Given the description of an element on the screen output the (x, y) to click on. 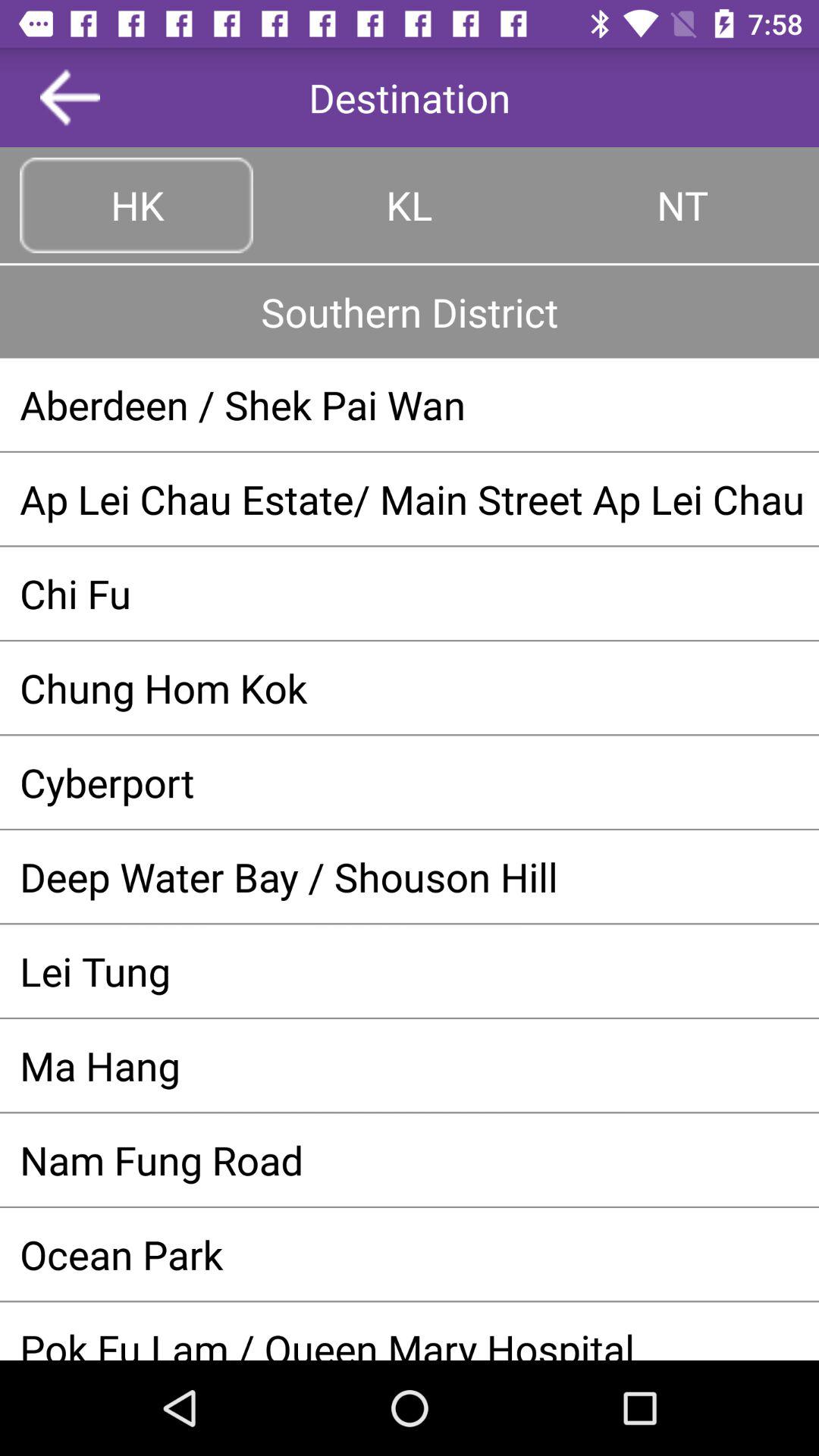
open aberdeen shek pai app (409, 404)
